Given the description of an element on the screen output the (x, y) to click on. 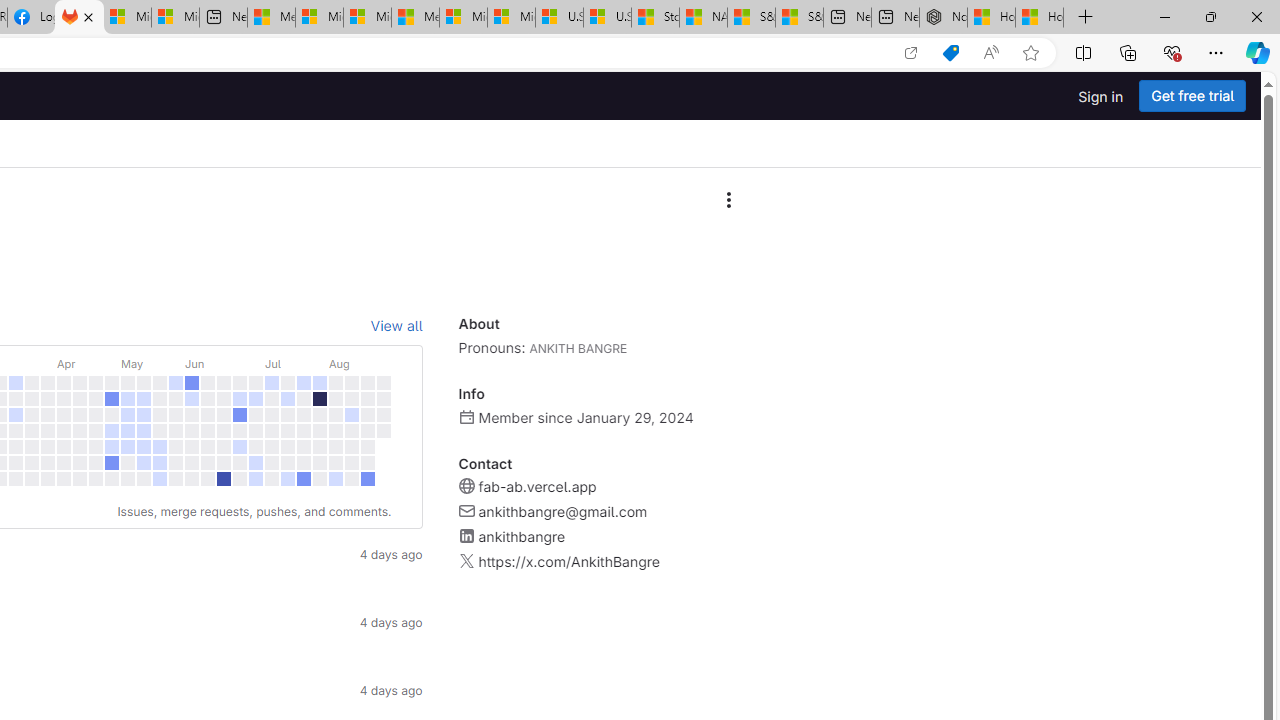
Microsoft account | Home (367, 17)
